Given the description of an element on the screen output the (x, y) to click on. 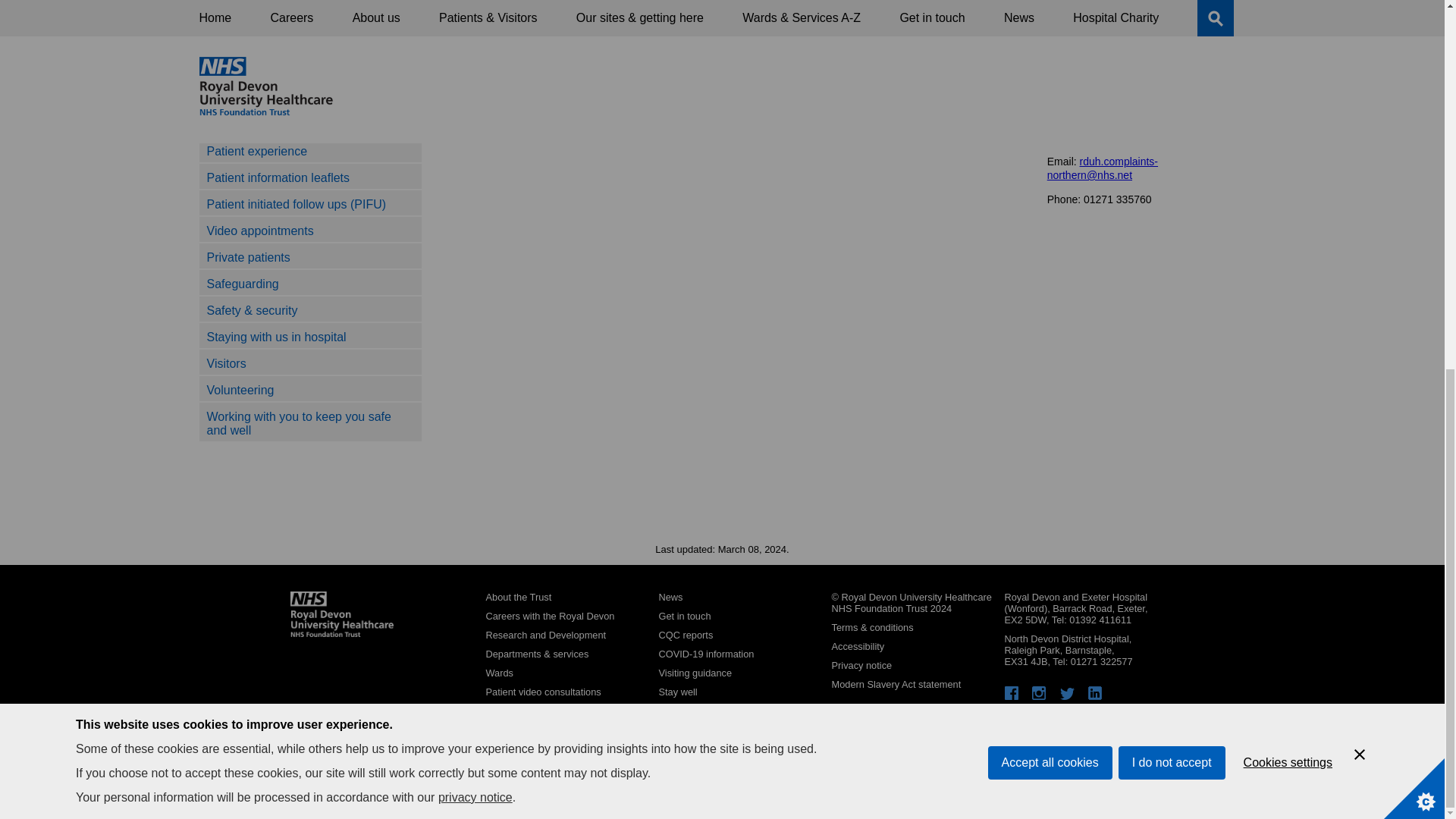
Accept all cookies (1050, 162)
News (670, 596)
I do not accept (1171, 142)
Stay well (677, 691)
Cookies settings (1287, 128)
Research and Development (544, 634)
privacy notice (475, 218)
Modern Slavery Statement (895, 684)
Careers (549, 615)
Covid-19 information (706, 654)
